Given the description of an element on the screen output the (x, y) to click on. 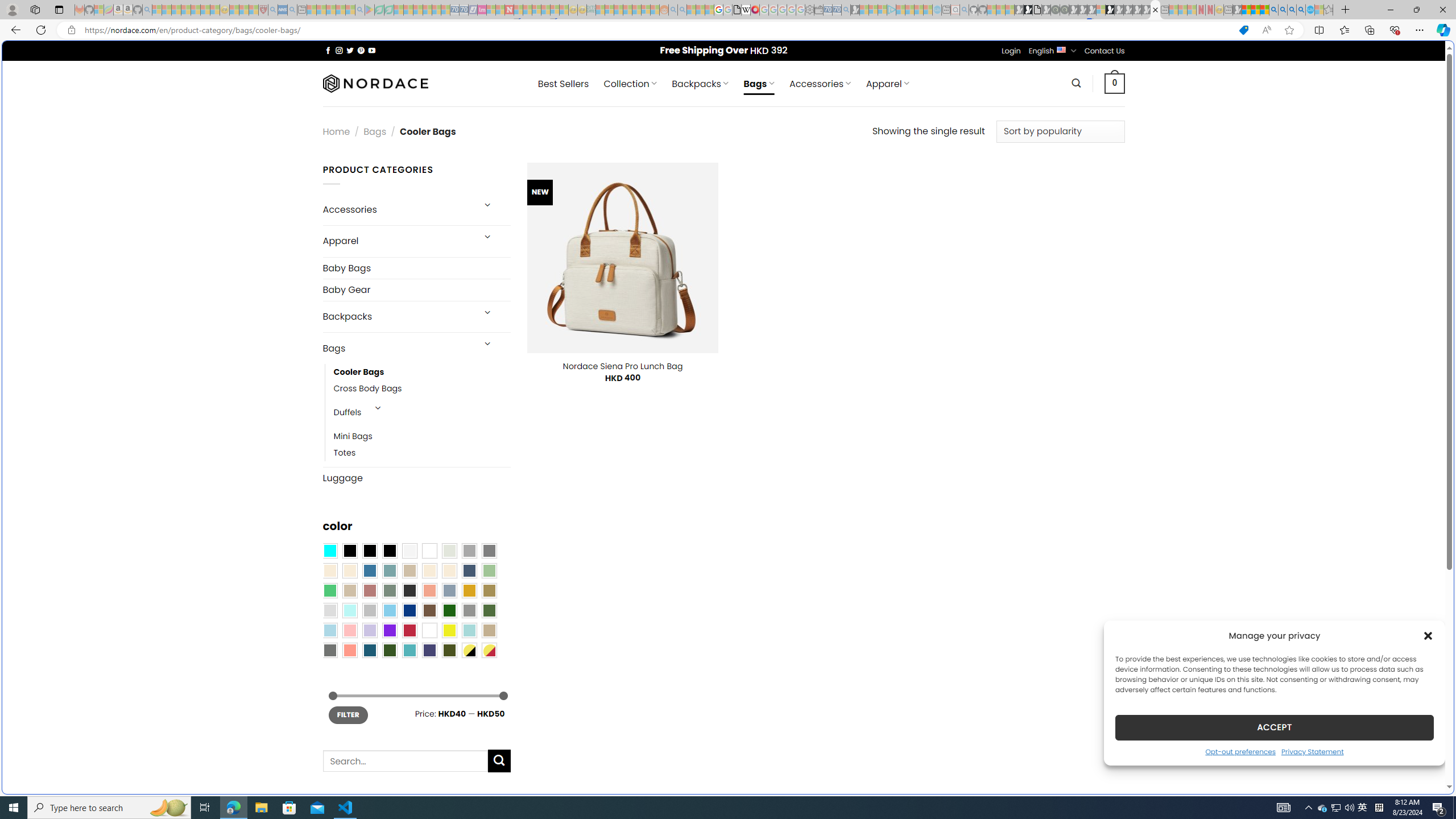
Baby Gear (416, 289)
Follow on Instagram (338, 49)
Kelp (488, 590)
